Given the description of an element on the screen output the (x, y) to click on. 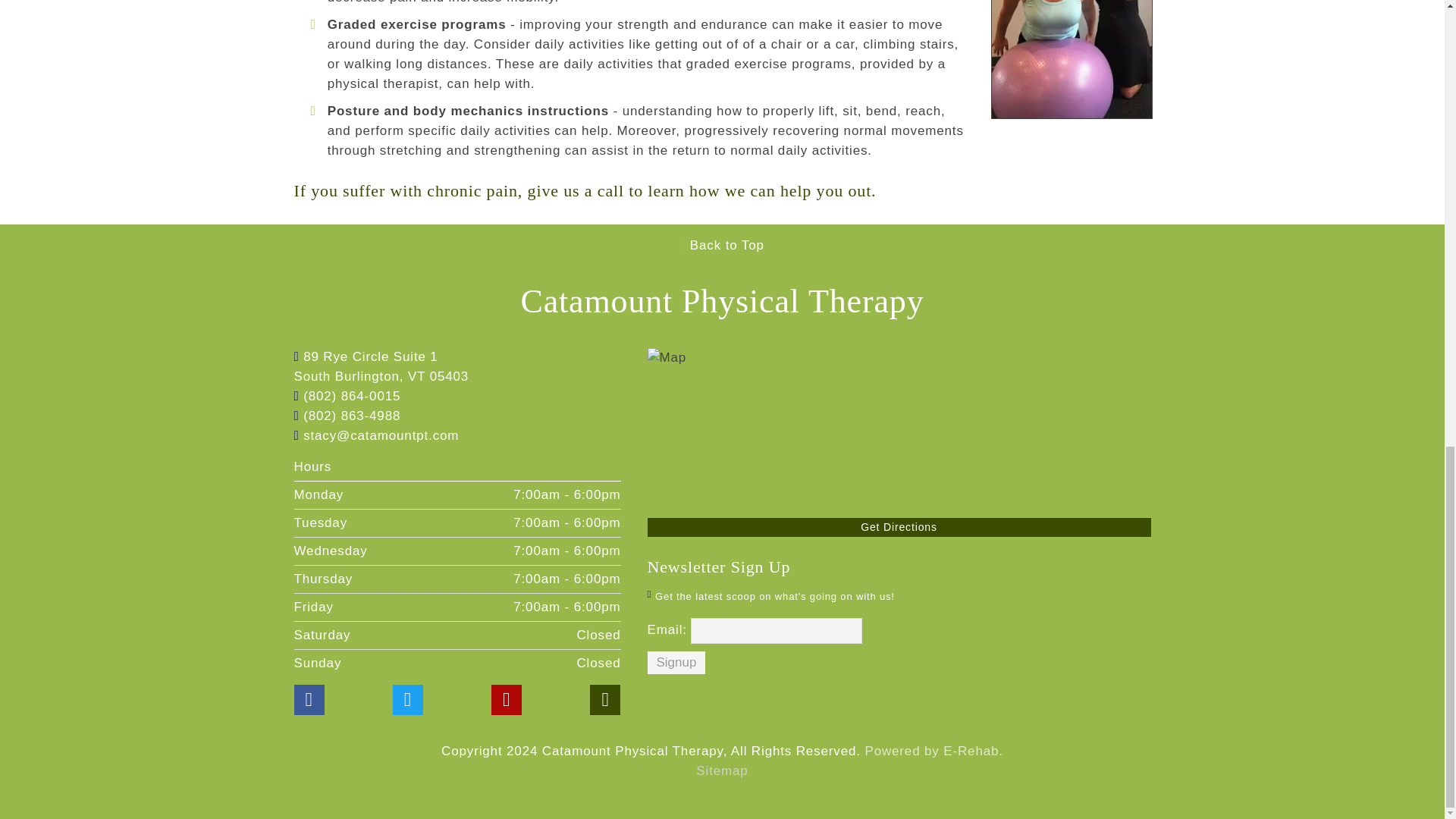
Sitemap (721, 770)
Back to Top (721, 245)
